Given the description of an element on the screen output the (x, y) to click on. 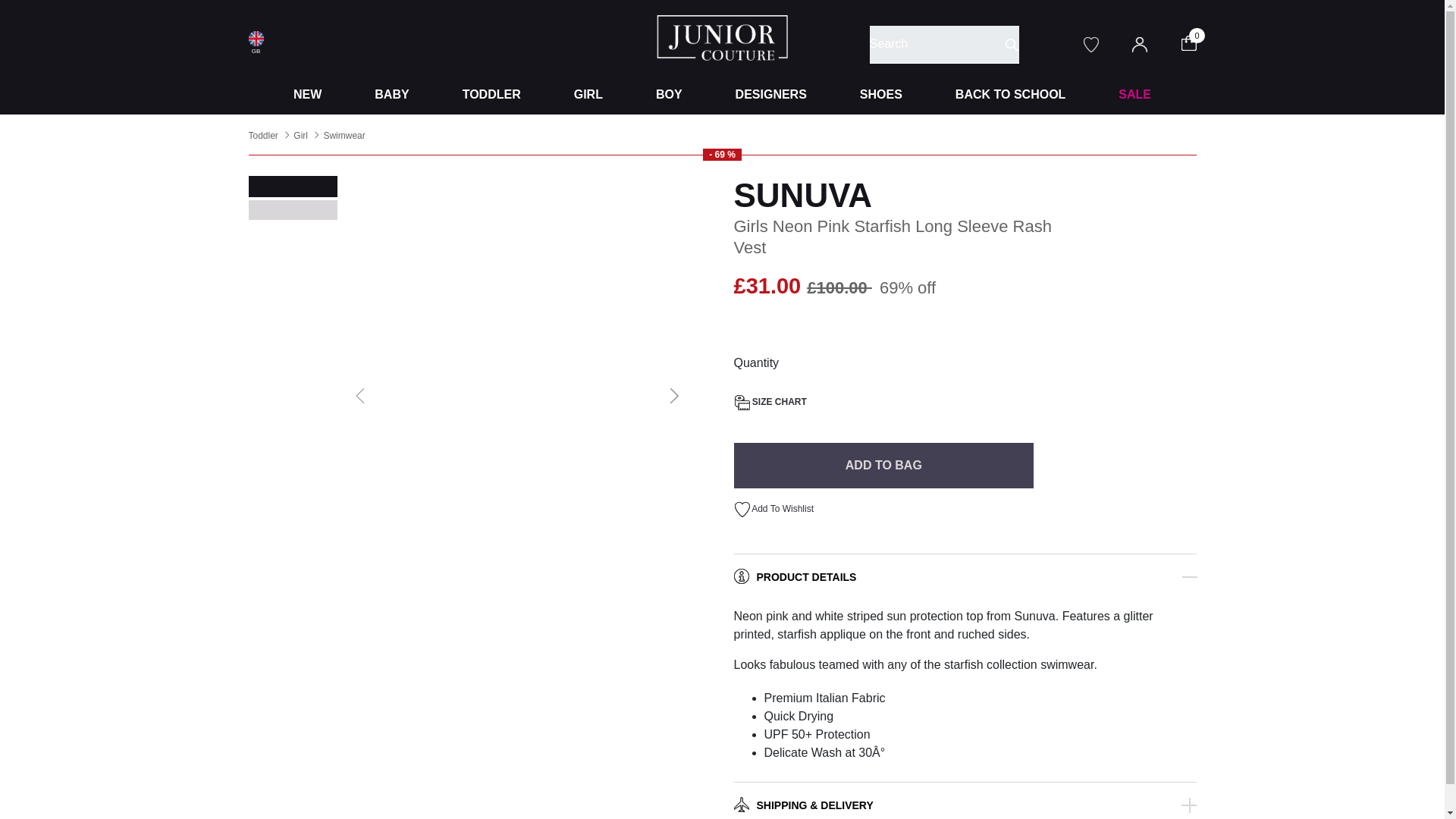
Juniour Couture Home (721, 36)
Cart 0 Items (1197, 42)
0 (1197, 42)
BABY (391, 94)
